Given the description of an element on the screen output the (x, y) to click on. 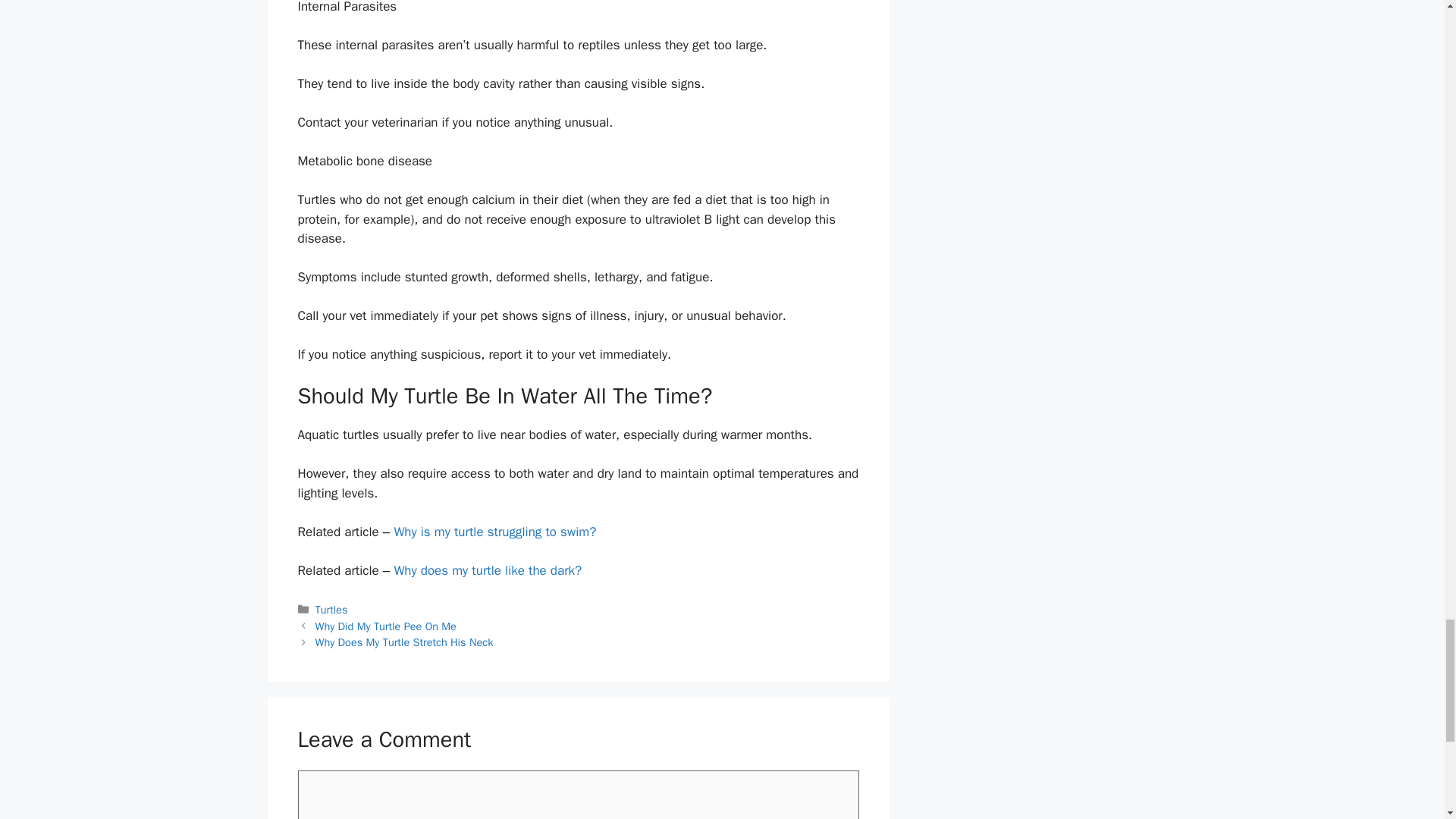
Why does my turtle like the dark? (486, 570)
Why Does My Turtle Stretch His Neck (404, 642)
Why Did My Turtle Pee On Me (386, 626)
Why is my turtle struggling to swim? (494, 531)
Turtles (331, 609)
